Given the description of an element on the screen output the (x, y) to click on. 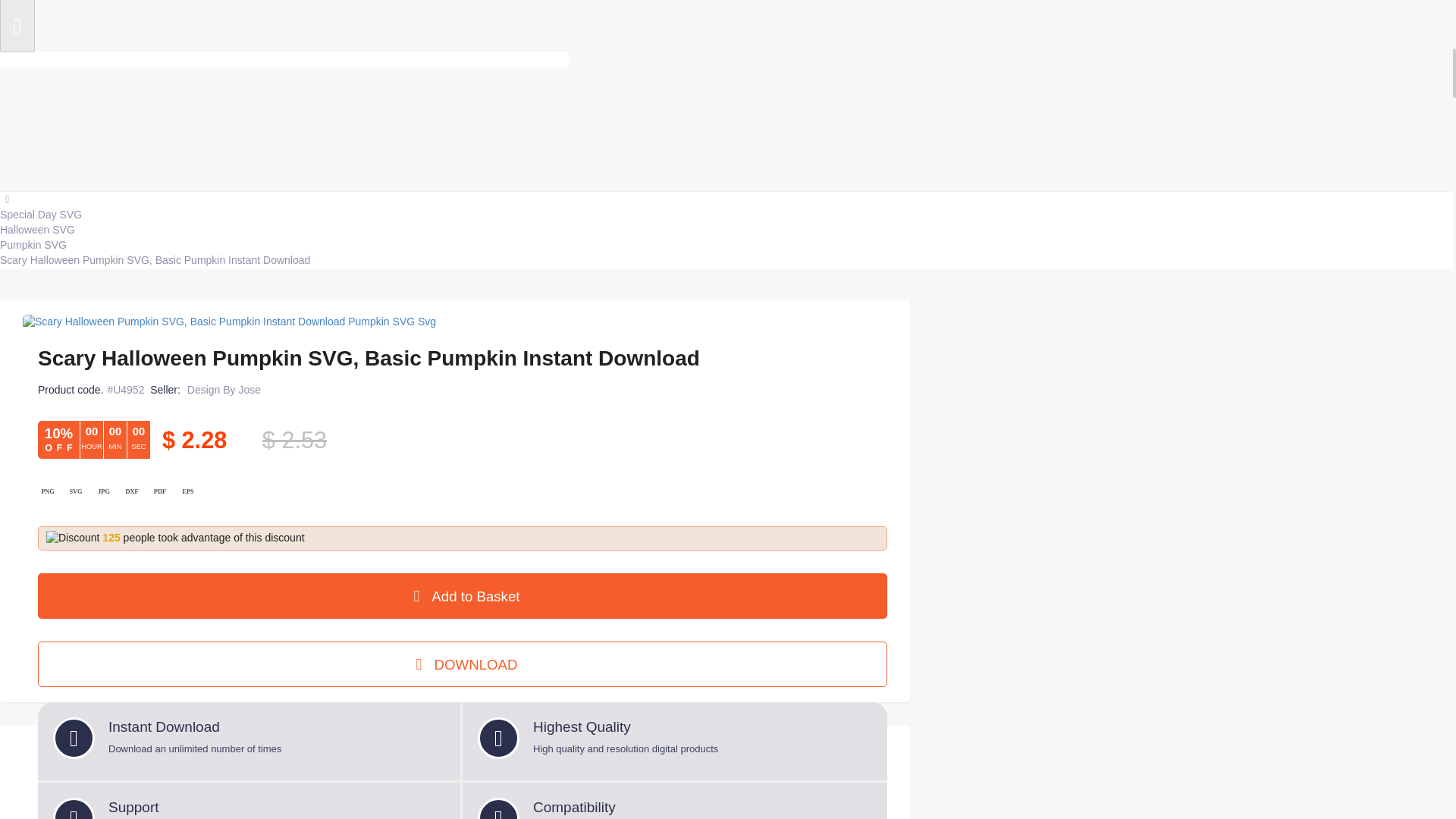
Faq (1252, 115)
Categories (56, 305)
Wishlist (1307, 117)
Account (1392, 115)
Mom SVG (171, 458)
0 (1307, 117)
T-shirt SVG (171, 428)
Blog (171, 398)
